Given the description of an element on the screen output the (x, y) to click on. 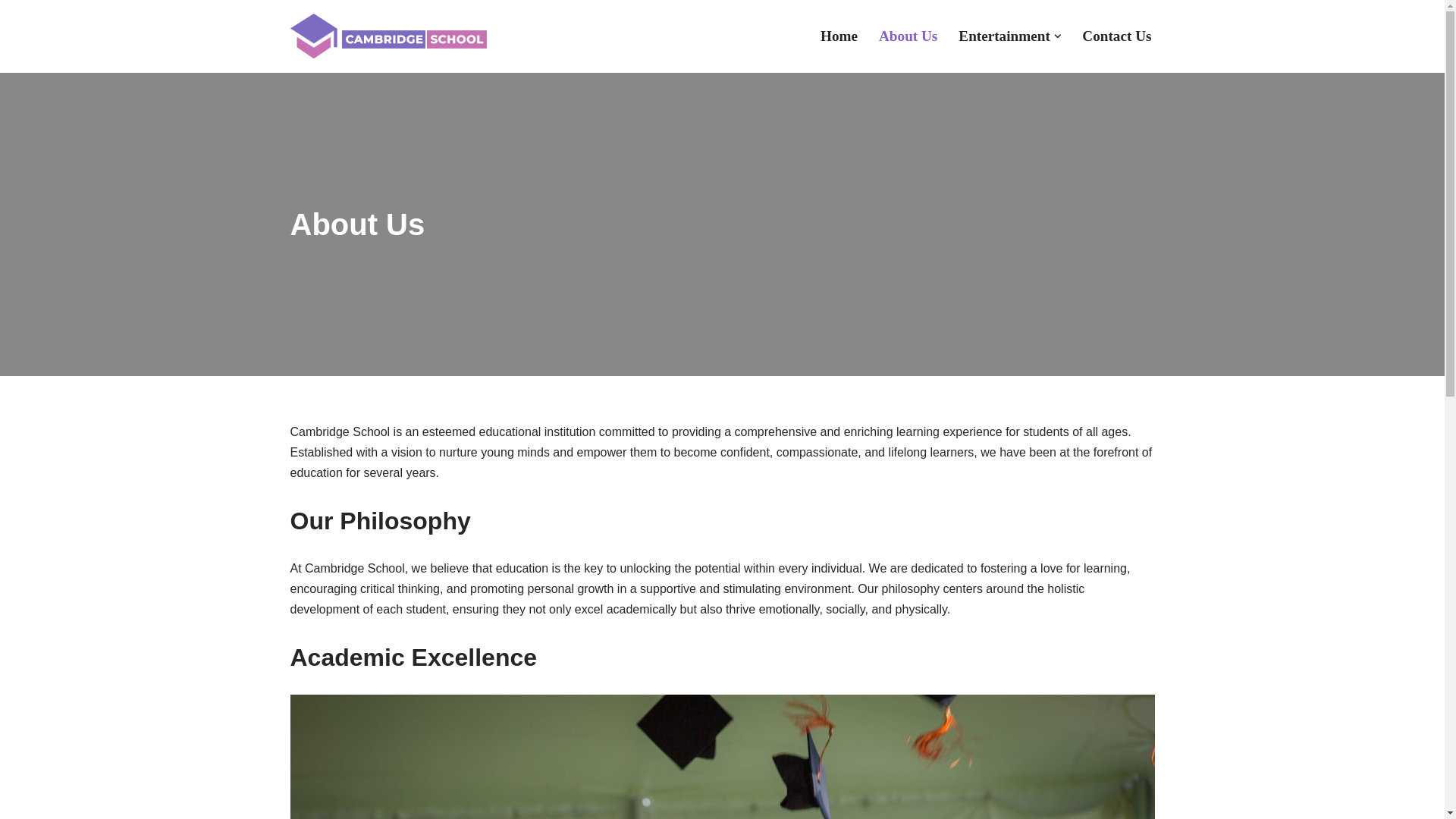
Home (839, 36)
Contact Us (1116, 36)
About Us (908, 36)
Skip to content (11, 31)
Entertainment (1003, 36)
